Given the description of an element on the screen output the (x, y) to click on. 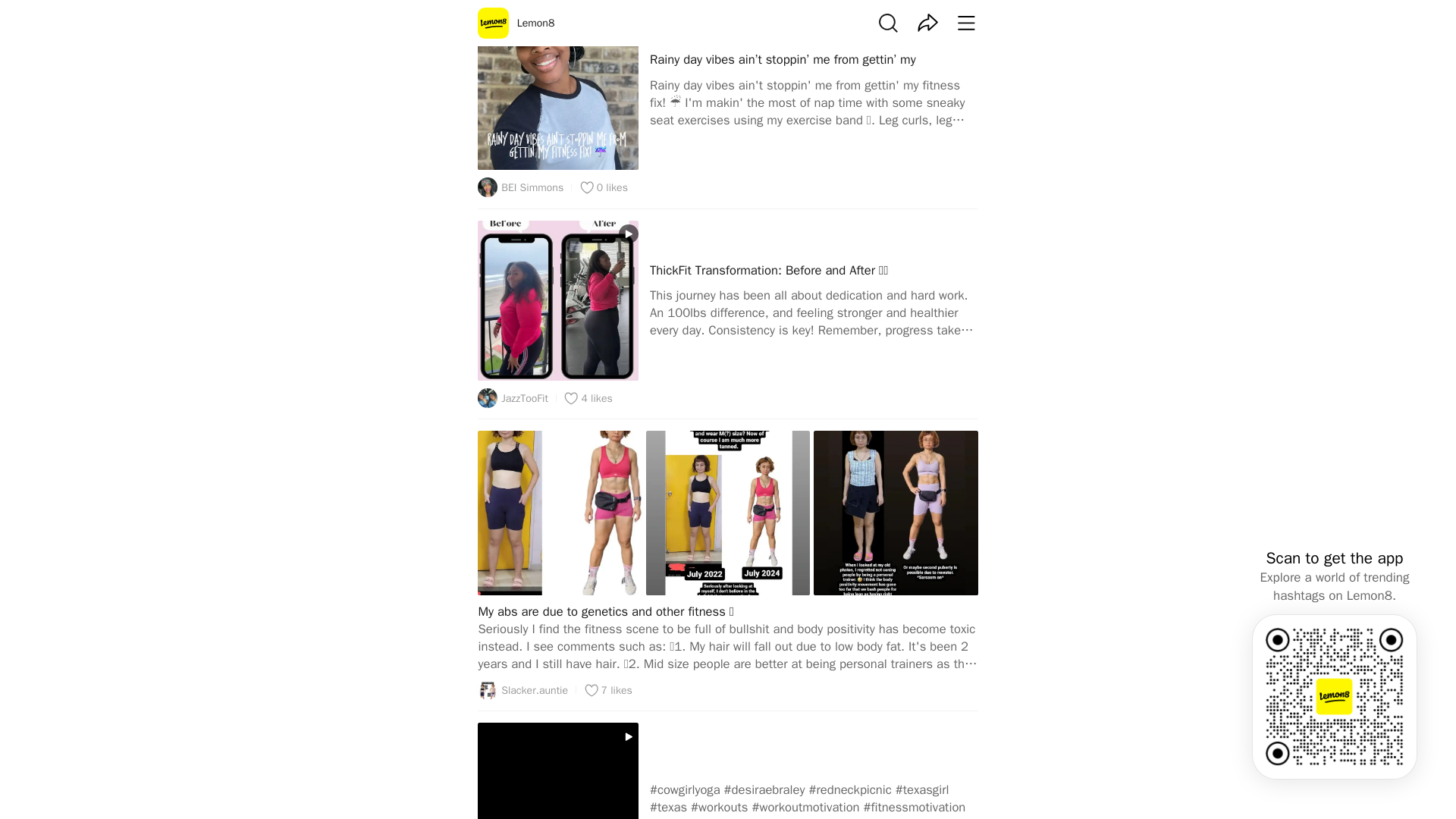
JazzTooFit (512, 397)
Slacker.auntie (522, 690)
BEI Simmons (520, 187)
